Given the description of an element on the screen output the (x, y) to click on. 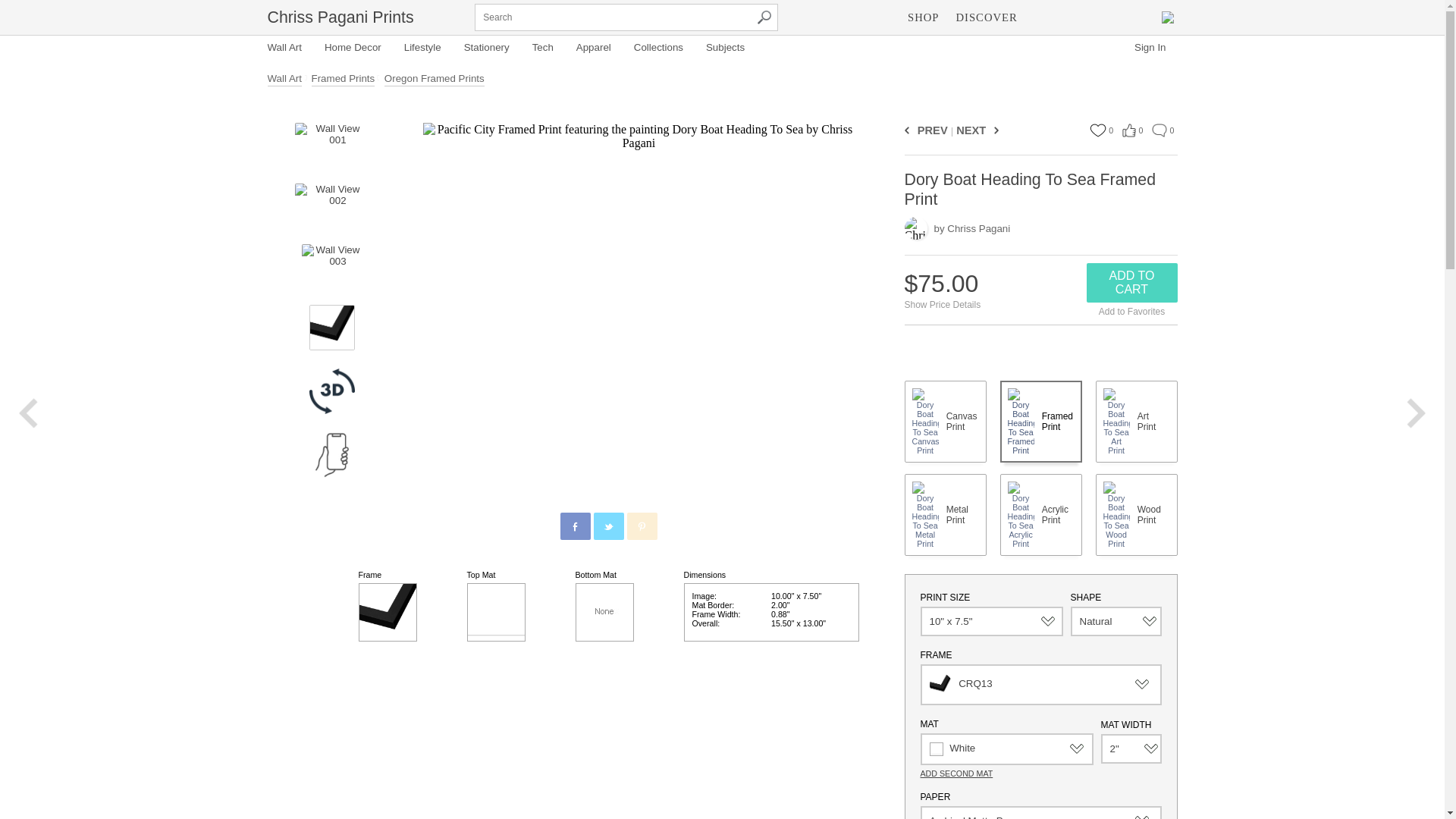
DISCOVER (987, 16)
Selected Frame (387, 612)
Facebook (575, 526)
Wall View 001 (331, 145)
SHOP (922, 16)
3D View (331, 391)
Launch Mobile App (331, 454)
Top Mat (496, 612)
Share Product on Pinterest (641, 525)
Favorite (1097, 130)
